Given the description of an element on the screen output the (x, y) to click on. 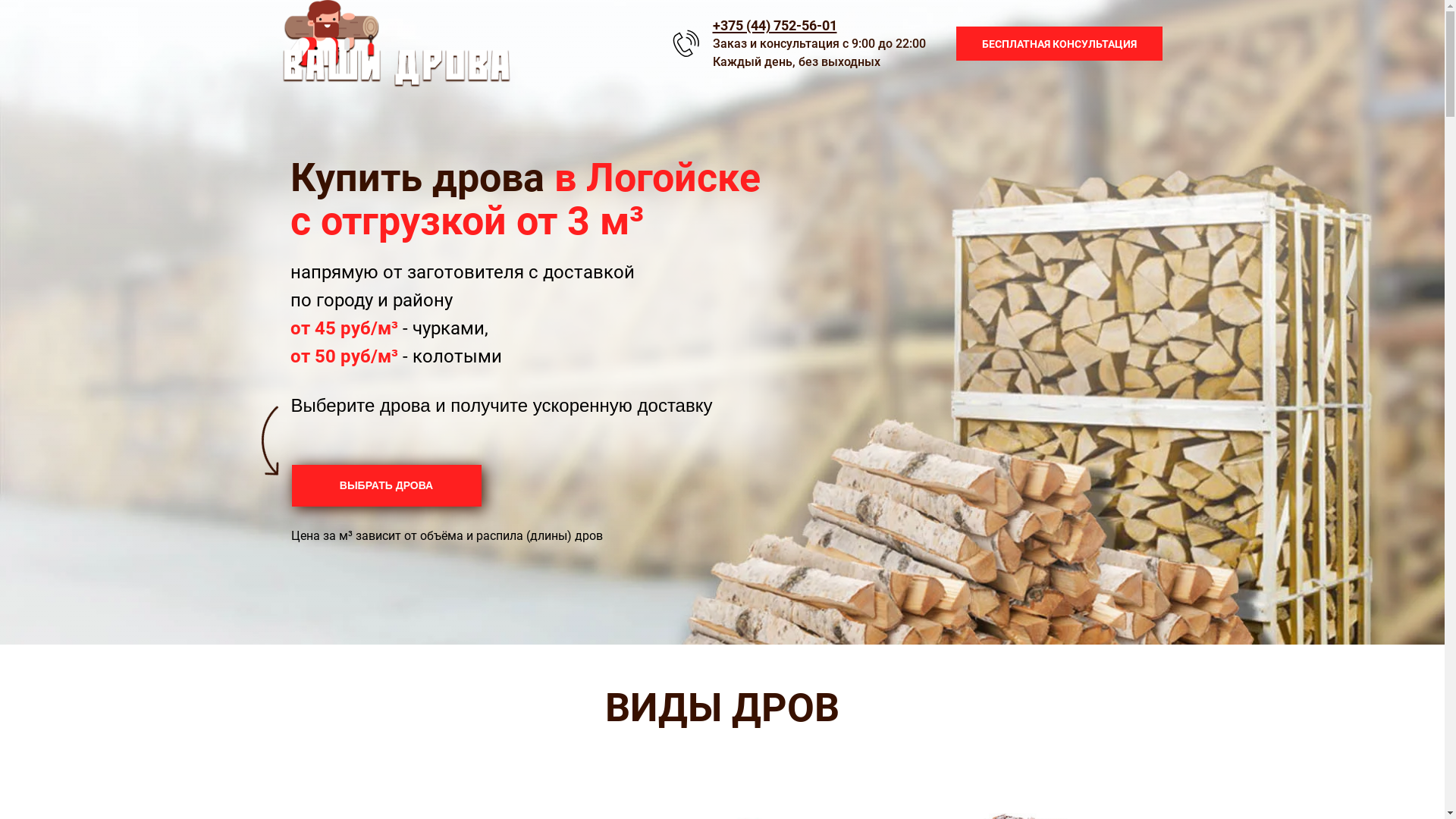
+375 (44) 752-56-01 Element type: text (774, 24)
